Given the description of an element on the screen output the (x, y) to click on. 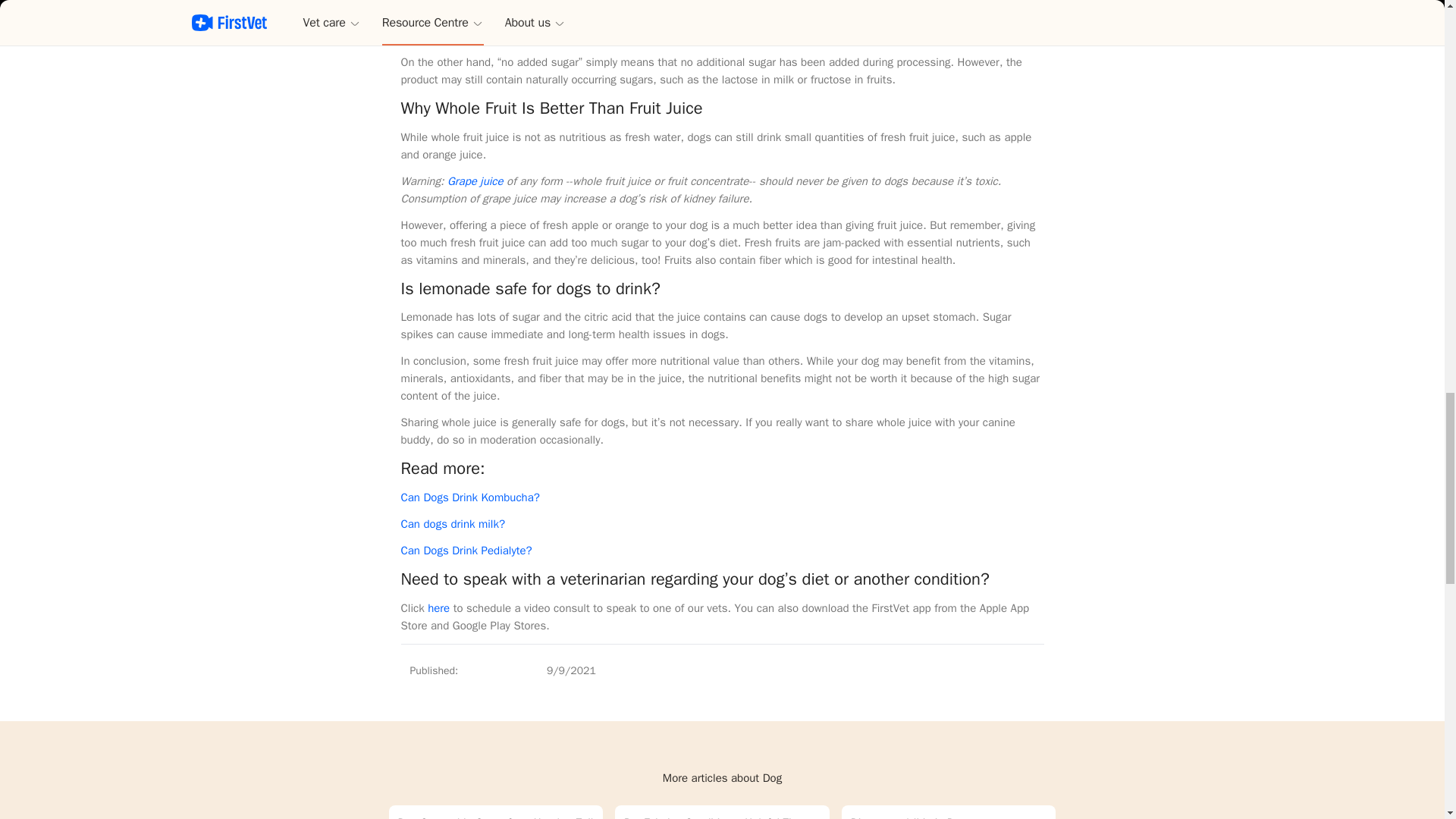
Can Dogs Drink Kombucha? (469, 497)
Can dogs drink milk? (452, 523)
Grape juice (474, 181)
